Given the description of an element on the screen output the (x, y) to click on. 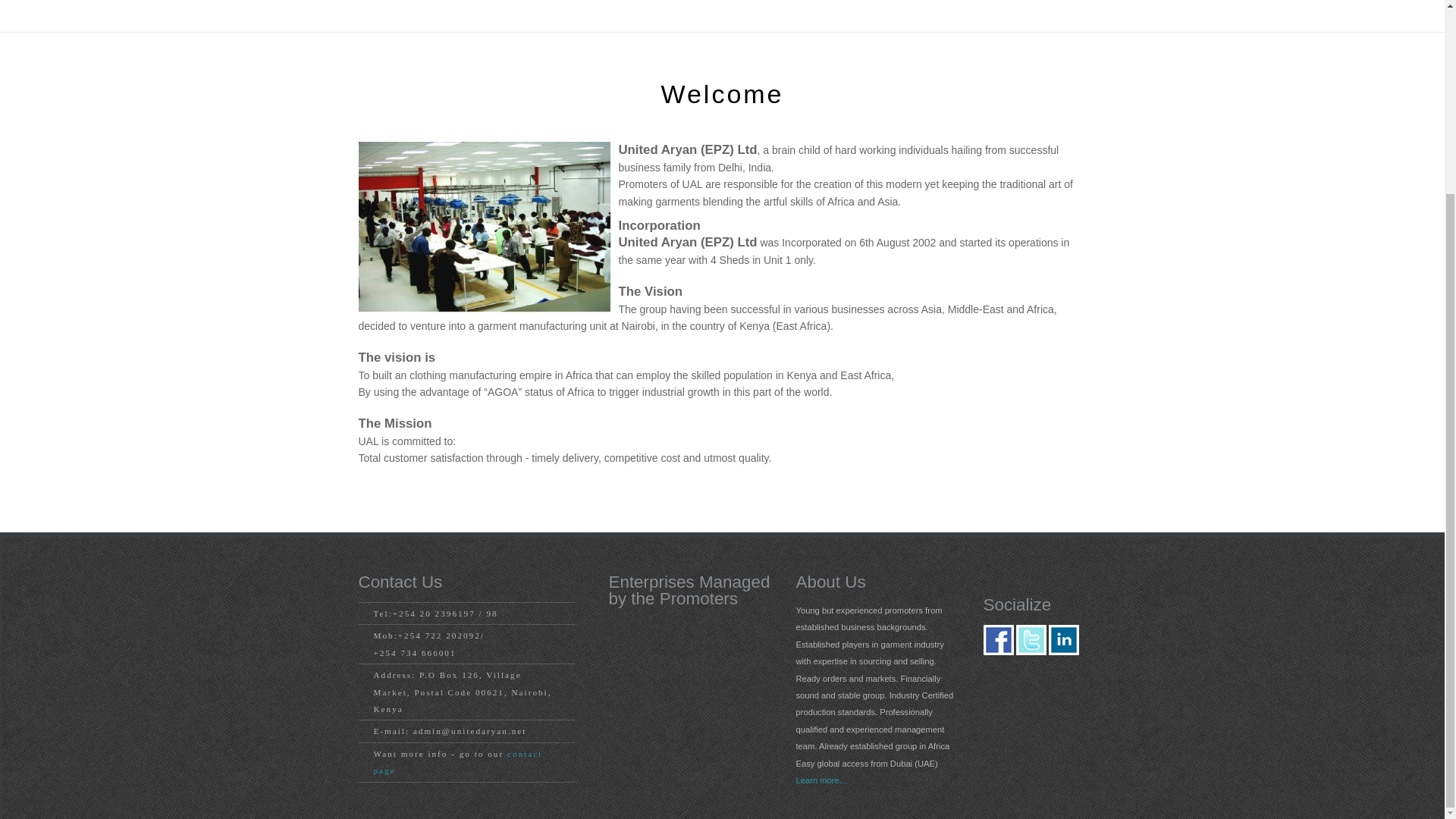
contact page (456, 761)
Learn more... (821, 779)
